Given the description of an element on the screen output the (x, y) to click on. 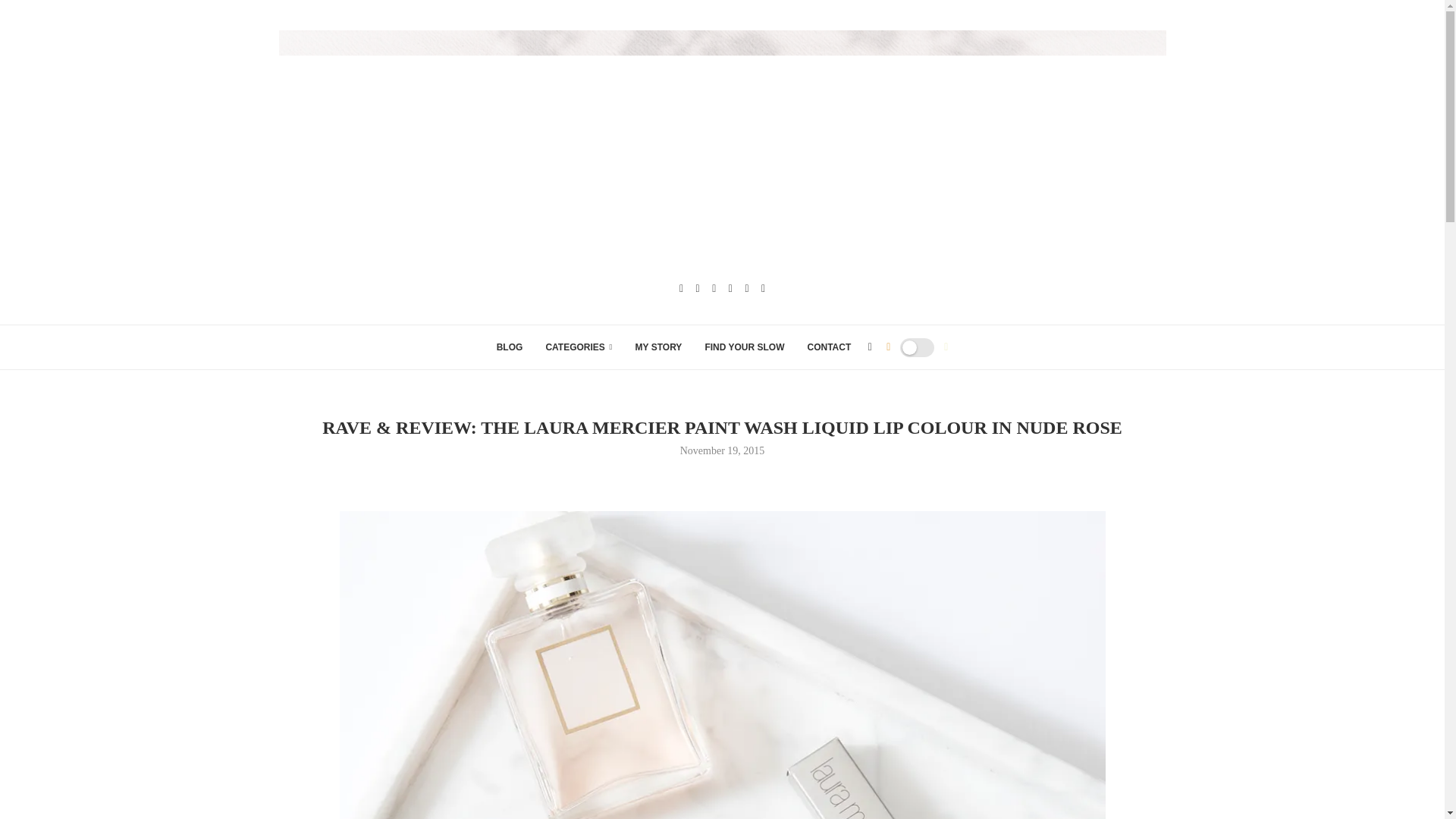
CONTACT (828, 347)
FIND YOUR SLOW (744, 347)
CATEGORIES (577, 347)
MY STORY (658, 347)
